Given the description of an element on the screen output the (x, y) to click on. 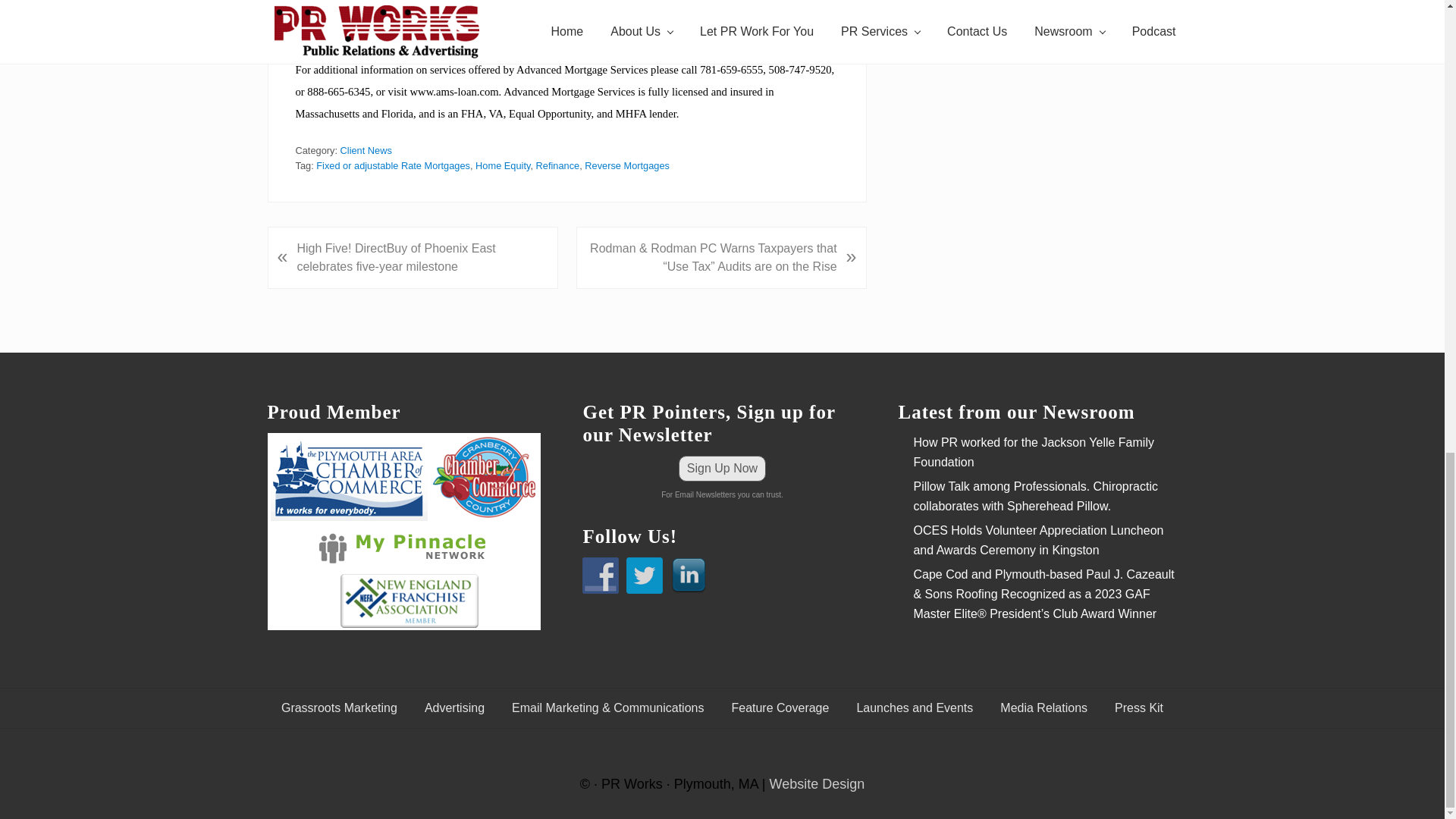
Follow Us on LinkedIn (687, 575)
Follow Us on Facebook (600, 575)
Follow Us on Twitter (644, 575)
